Given the description of an element on the screen output the (x, y) to click on. 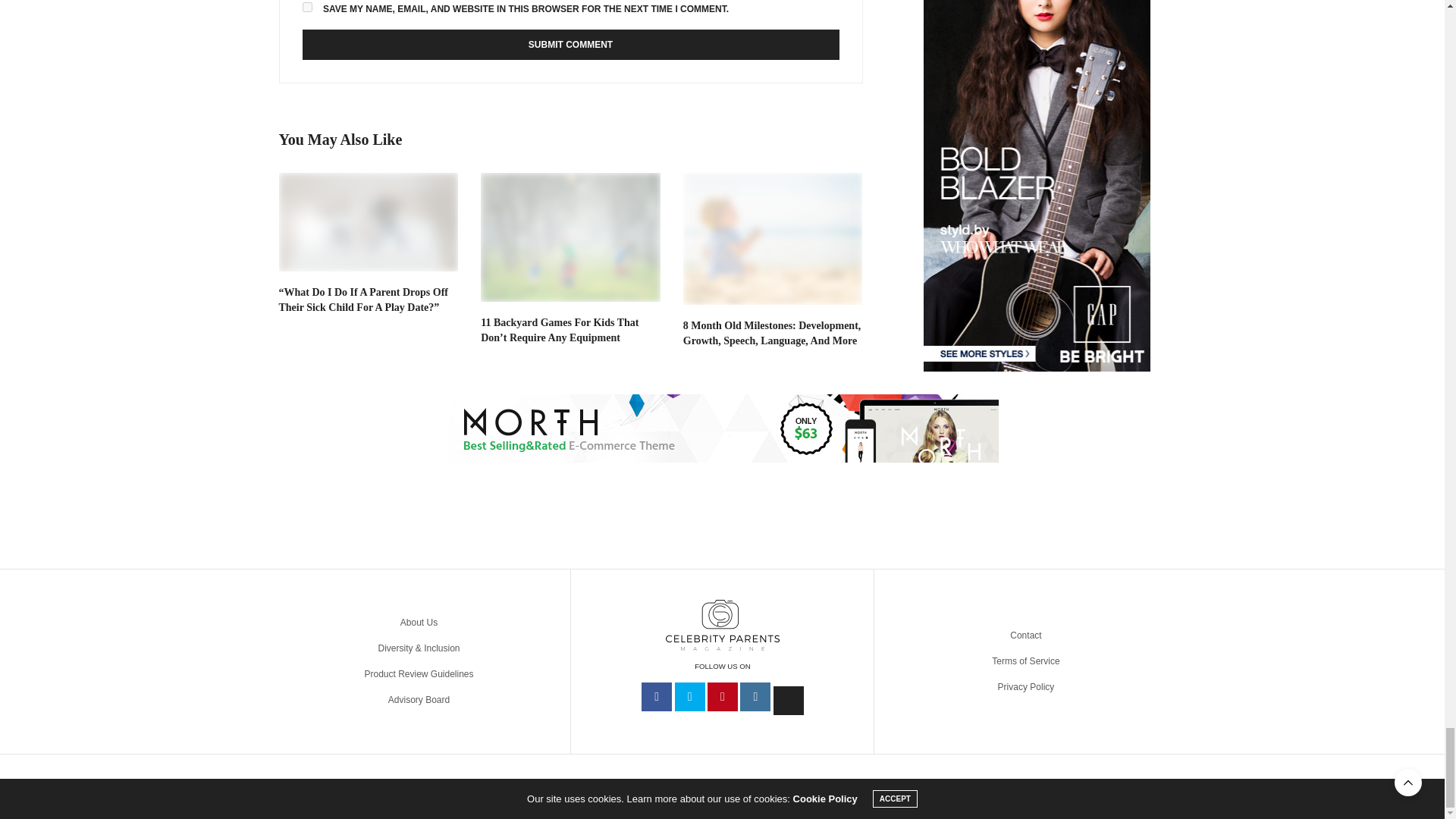
yes (306, 7)
Submit Comment (569, 44)
